Given the description of an element on the screen output the (x, y) to click on. 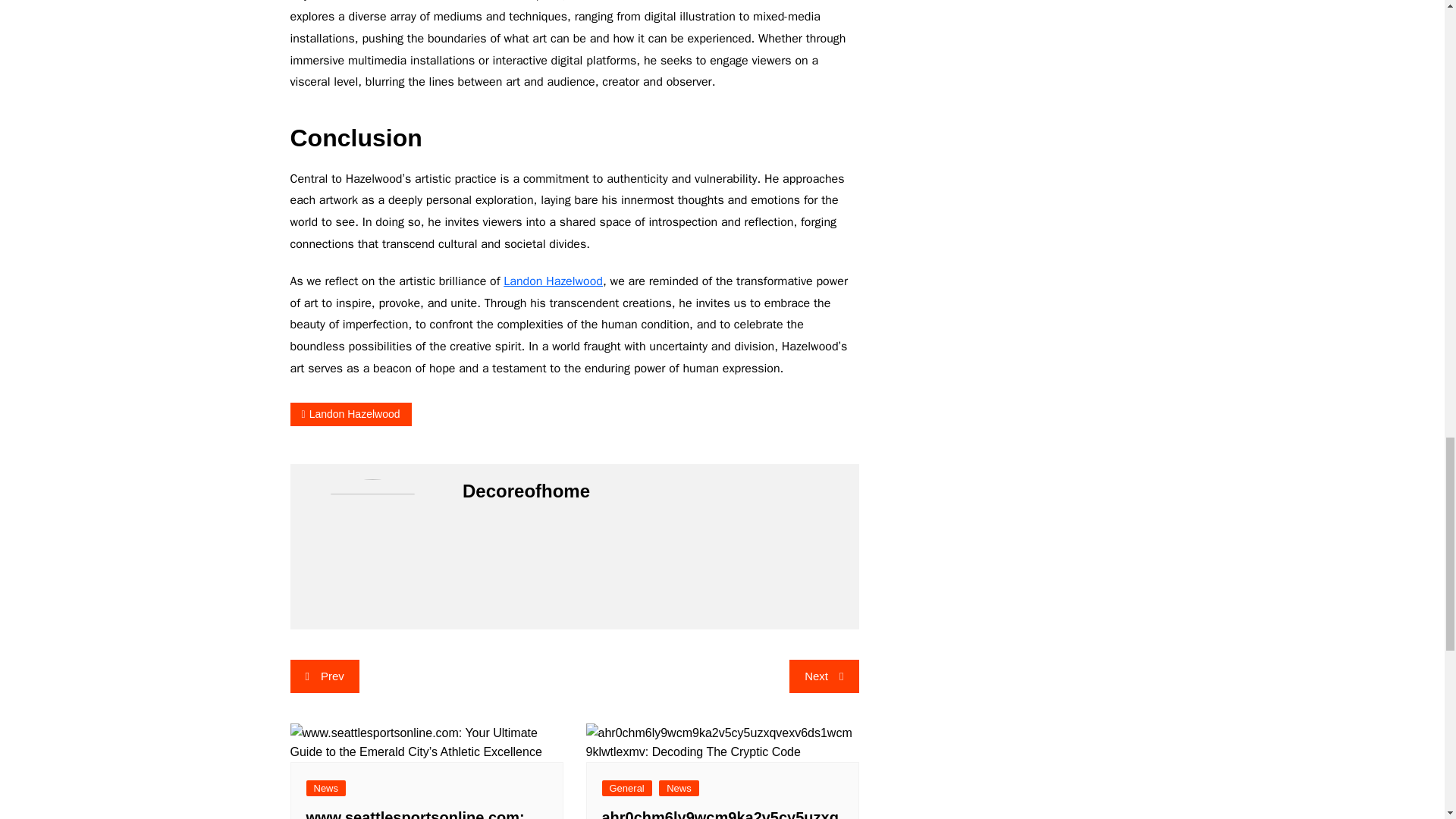
Prev (323, 676)
News (678, 788)
Landon Hazelwood (552, 281)
News (325, 788)
Next (824, 676)
General (627, 788)
Landon Hazelwood (349, 413)
